Given the description of an element on the screen output the (x, y) to click on. 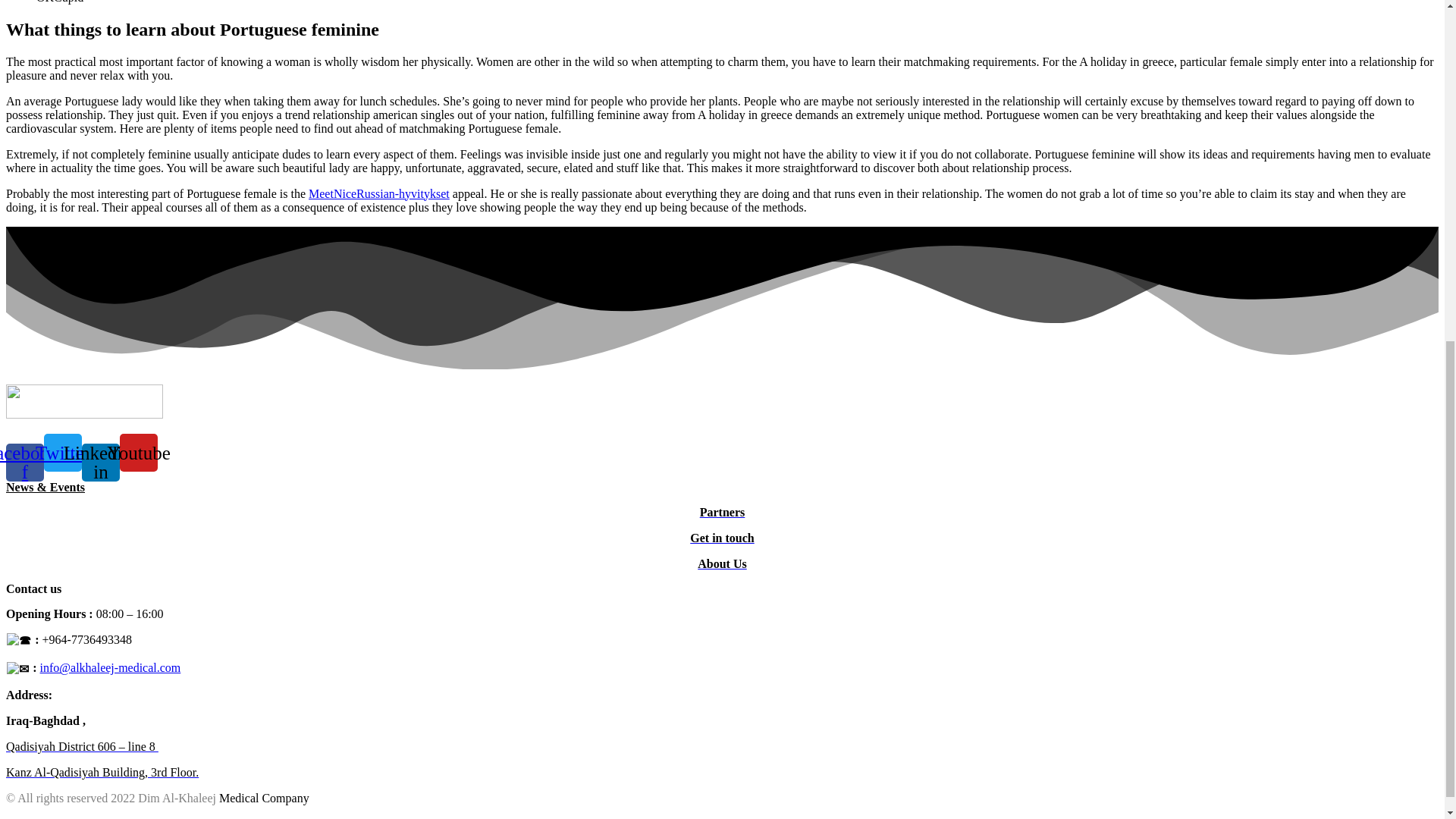
Twitter (62, 452)
MeetNiceRussian-hyvitykset (378, 192)
Linkedin-in (100, 462)
About Us (721, 563)
Partners (722, 512)
Youtube (138, 452)
Kanz Al-Qadisiyah Building, 3rd Floor. (101, 771)
Facebook-f (24, 462)
Get in touch (722, 537)
